Given the description of an element on the screen output the (x, y) to click on. 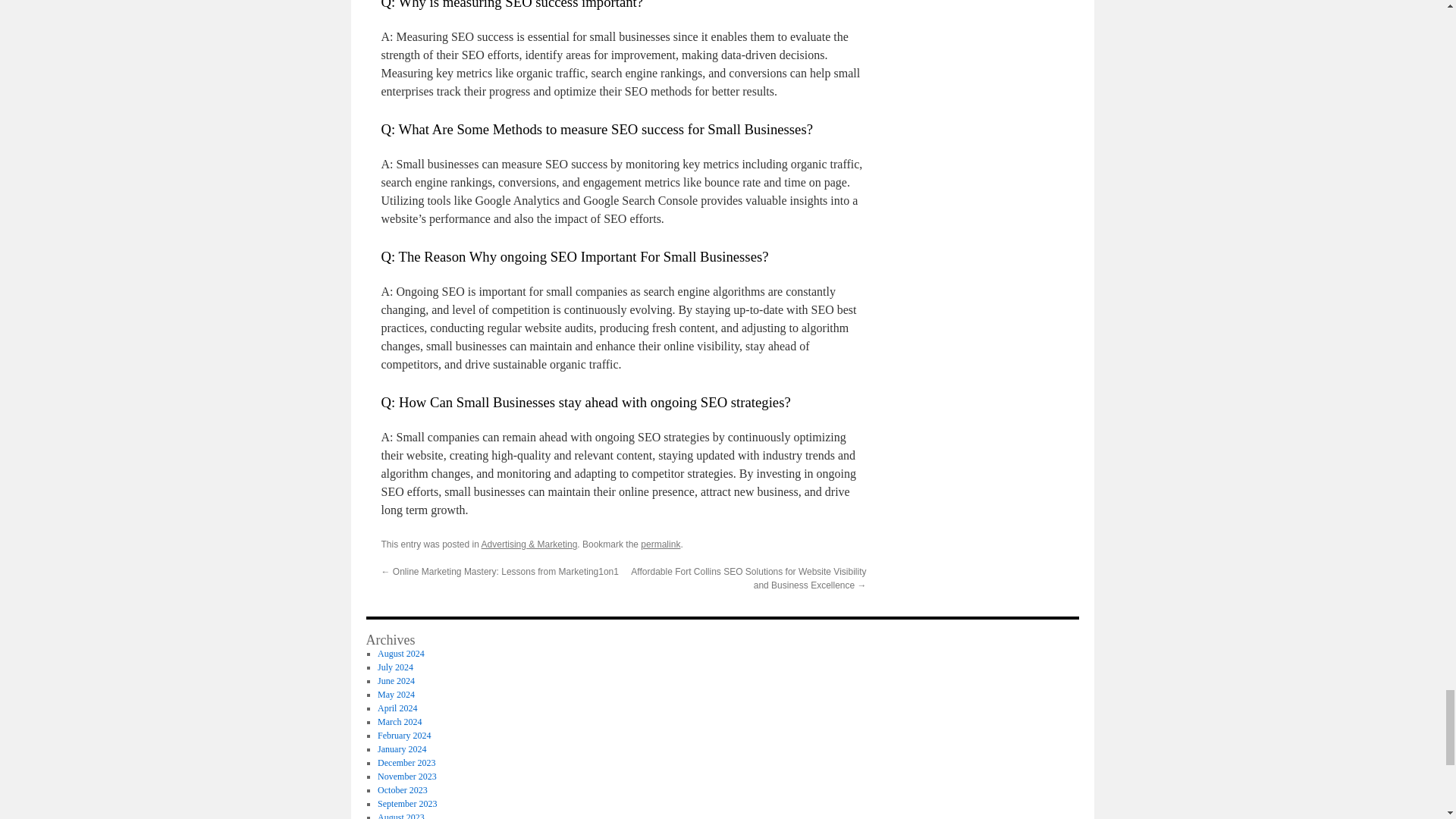
July 2024 (395, 666)
May 2024 (395, 694)
April 2024 (396, 707)
October 2023 (402, 789)
March 2024 (399, 721)
August 2023 (401, 815)
September 2023 (406, 803)
permalink (659, 543)
August 2024 (401, 653)
